Given the description of an element on the screen output the (x, y) to click on. 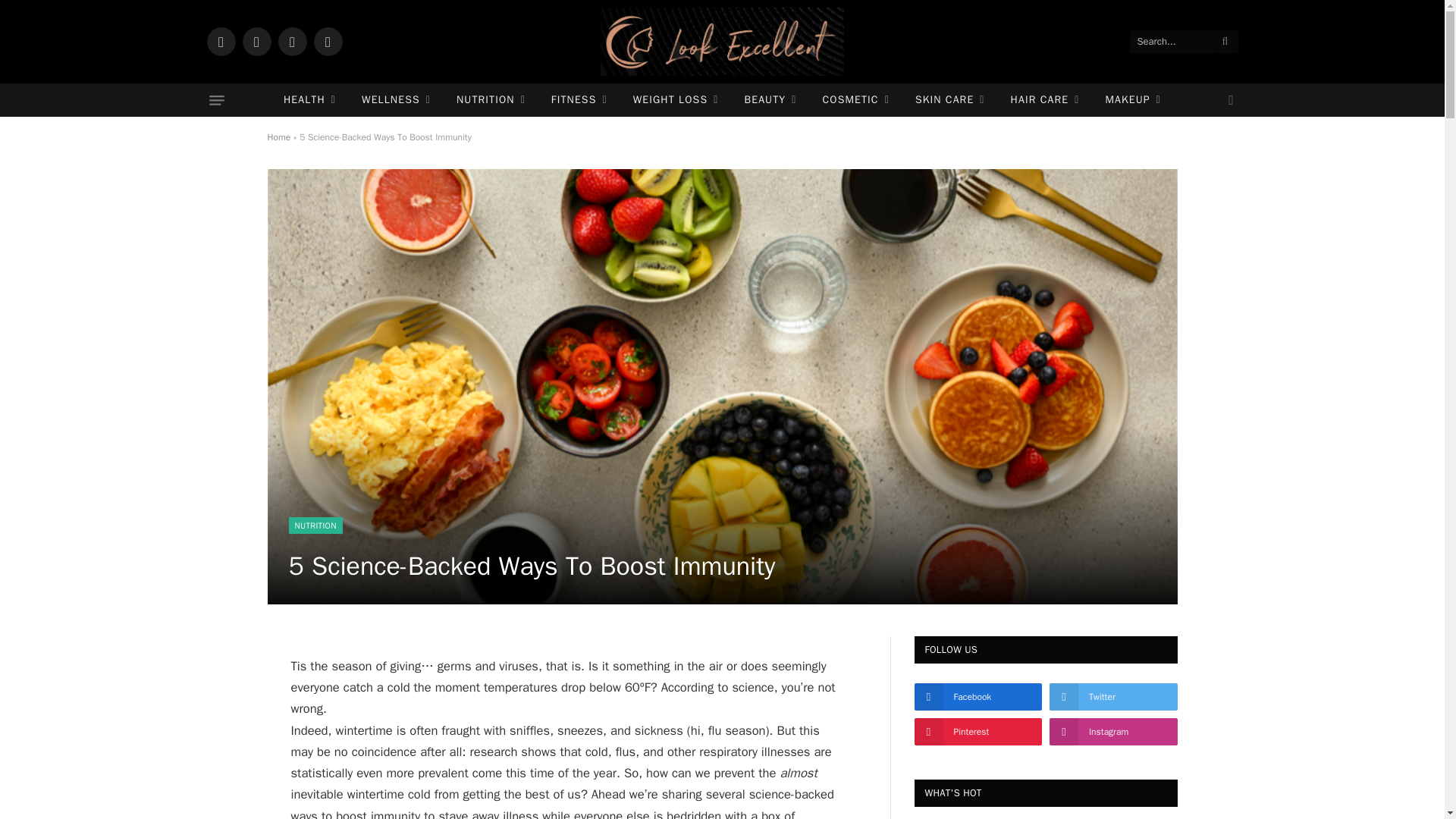
LookExcellent.com (721, 41)
Pinterest (328, 41)
WELLNESS (396, 100)
Instagram (291, 41)
HEALTH (309, 100)
Facebook (220, 41)
